Given the description of an element on the screen output the (x, y) to click on. 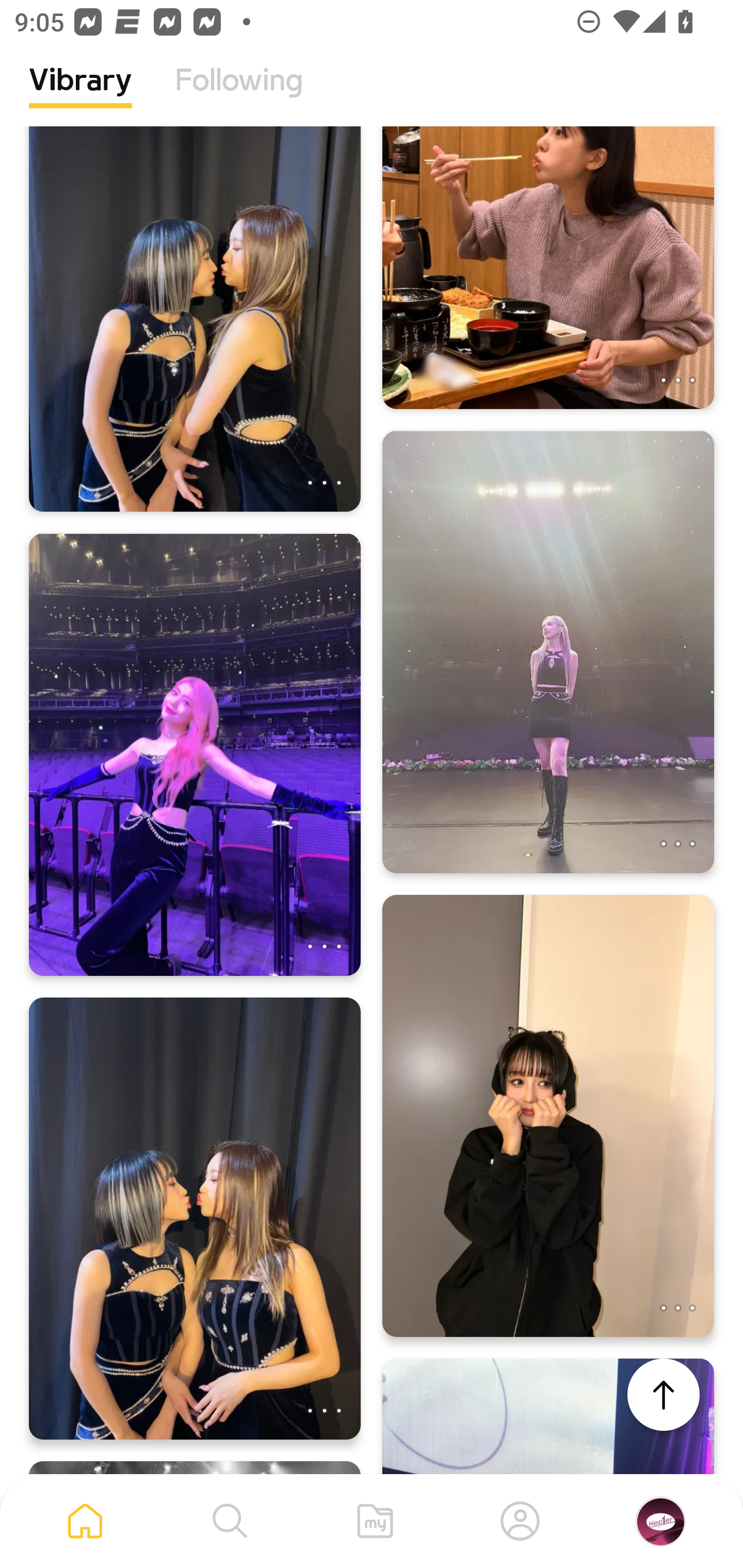
Vibrary (80, 95)
Following (239, 95)
